Given the description of an element on the screen output the (x, y) to click on. 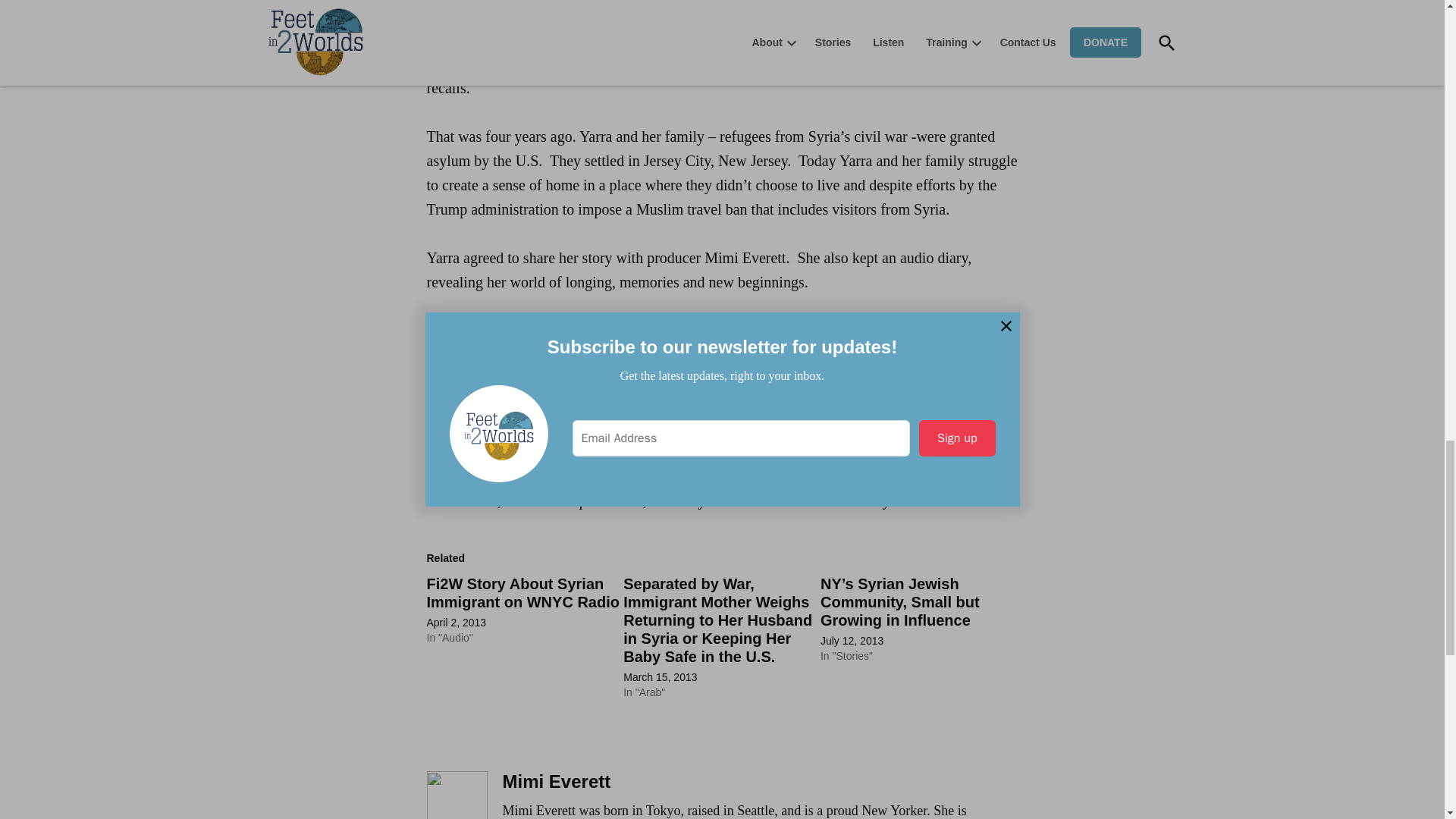
Fi2W Story About Syrian Immigrant on WNYC Radio (522, 592)
